Given the description of an element on the screen output the (x, y) to click on. 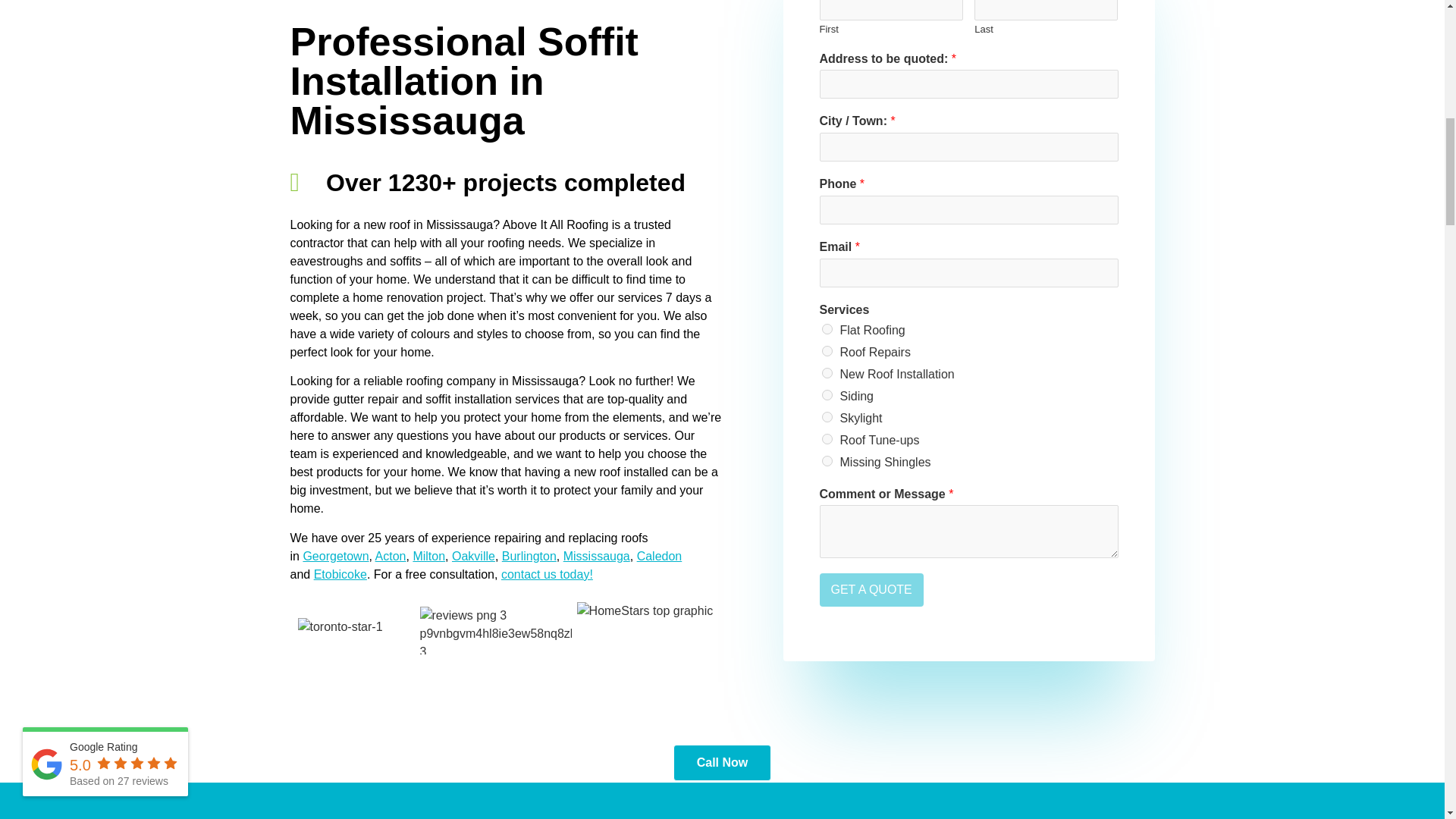
Roof Tune-ups (827, 439)
Skylight  (827, 416)
Missing Shingles (827, 460)
toronto-star-1 (339, 627)
Siding (827, 394)
Flat Roofing (827, 328)
New Roof Installation  (827, 372)
Roof Repairs (827, 350)
